Given the description of an element on the screen output the (x, y) to click on. 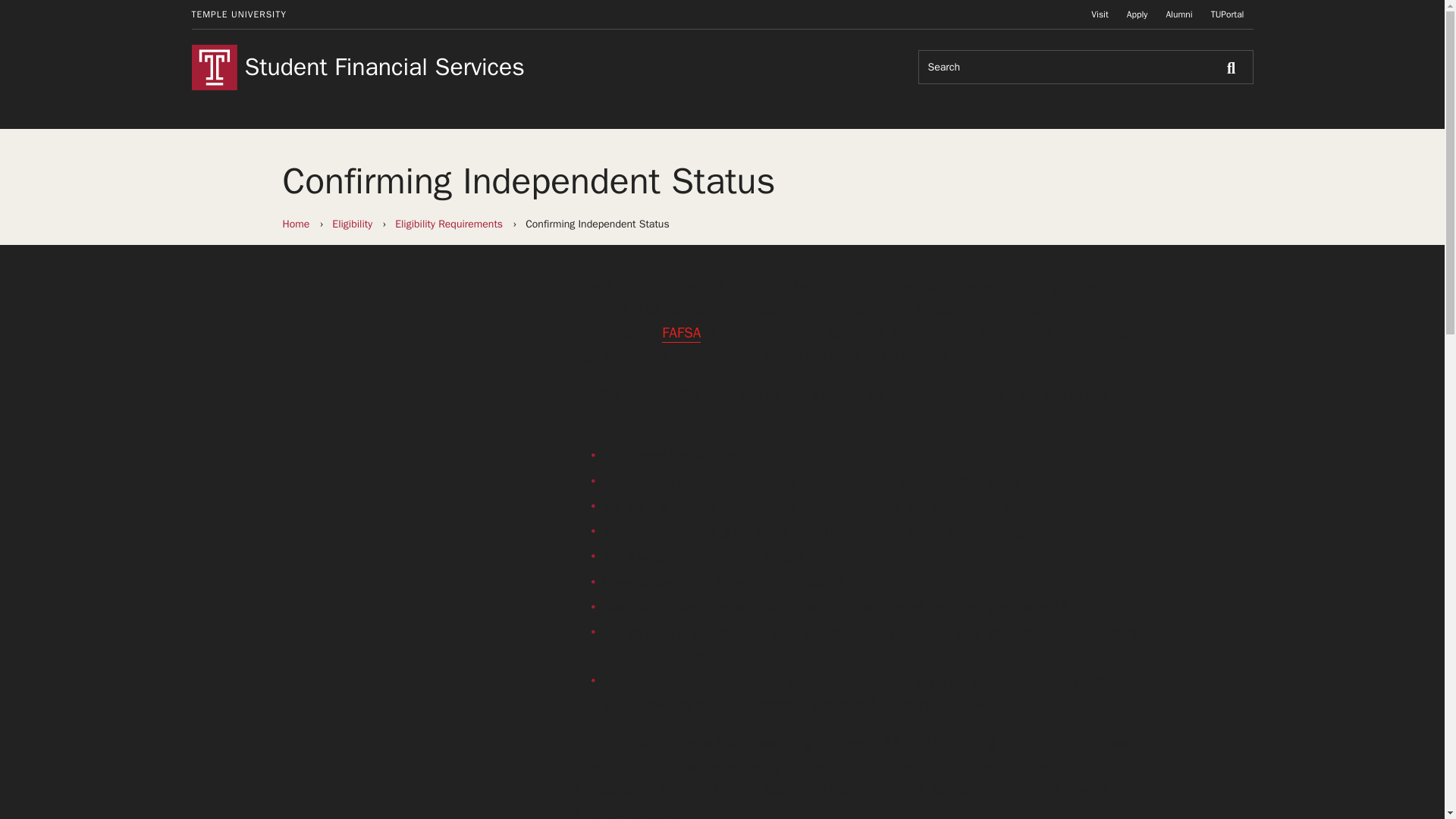
TEMPLE UNIVERSITY (237, 14)
Search (1235, 67)
Search (1235, 67)
TUPortal (1227, 14)
Student Financial Services (452, 66)
Visit (1099, 14)
Apply (1137, 14)
Search (1235, 67)
Alumni (1178, 14)
